Given the description of an element on the screen output the (x, y) to click on. 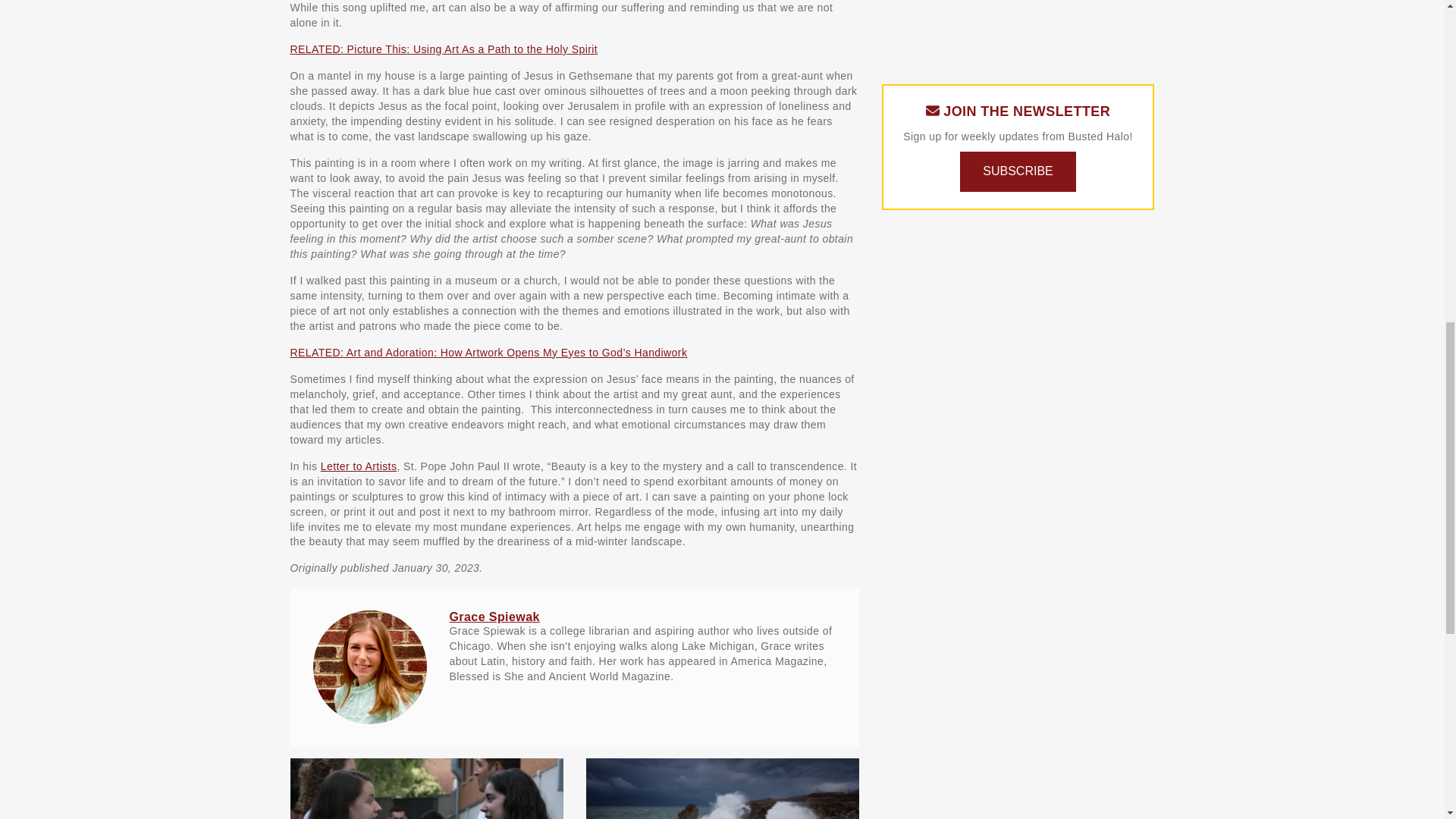
Grace Spiewak (493, 616)
Letter to Artists (358, 466)
SUBSCRIBE (1017, 171)
3rd party ad content (1017, 30)
